Given the description of an element on the screen output the (x, y) to click on. 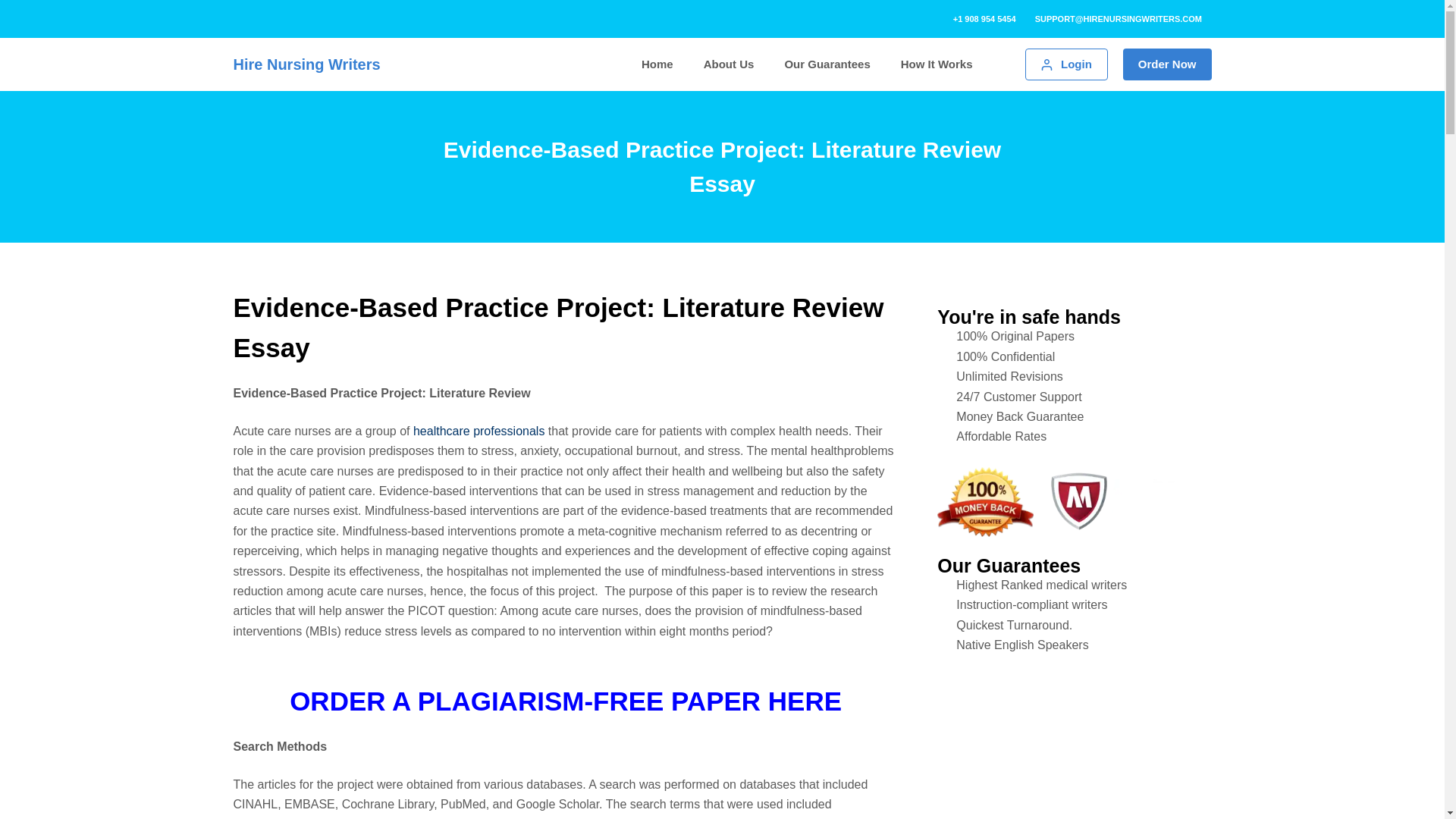
Hire Nursing Writers (306, 64)
How It Works (936, 64)
Our Guarantees (826, 64)
Order Now (1166, 64)
Login (1065, 64)
Skip to content (15, 7)
ORDER A PLAGIARISM-FREE PAPER HERE (565, 700)
Home (657, 64)
Evidence-Based Practice Project: Literature Review Essay (722, 166)
About Us (729, 64)
healthcare professionals (478, 431)
